Given the description of an element on the screen output the (x, y) to click on. 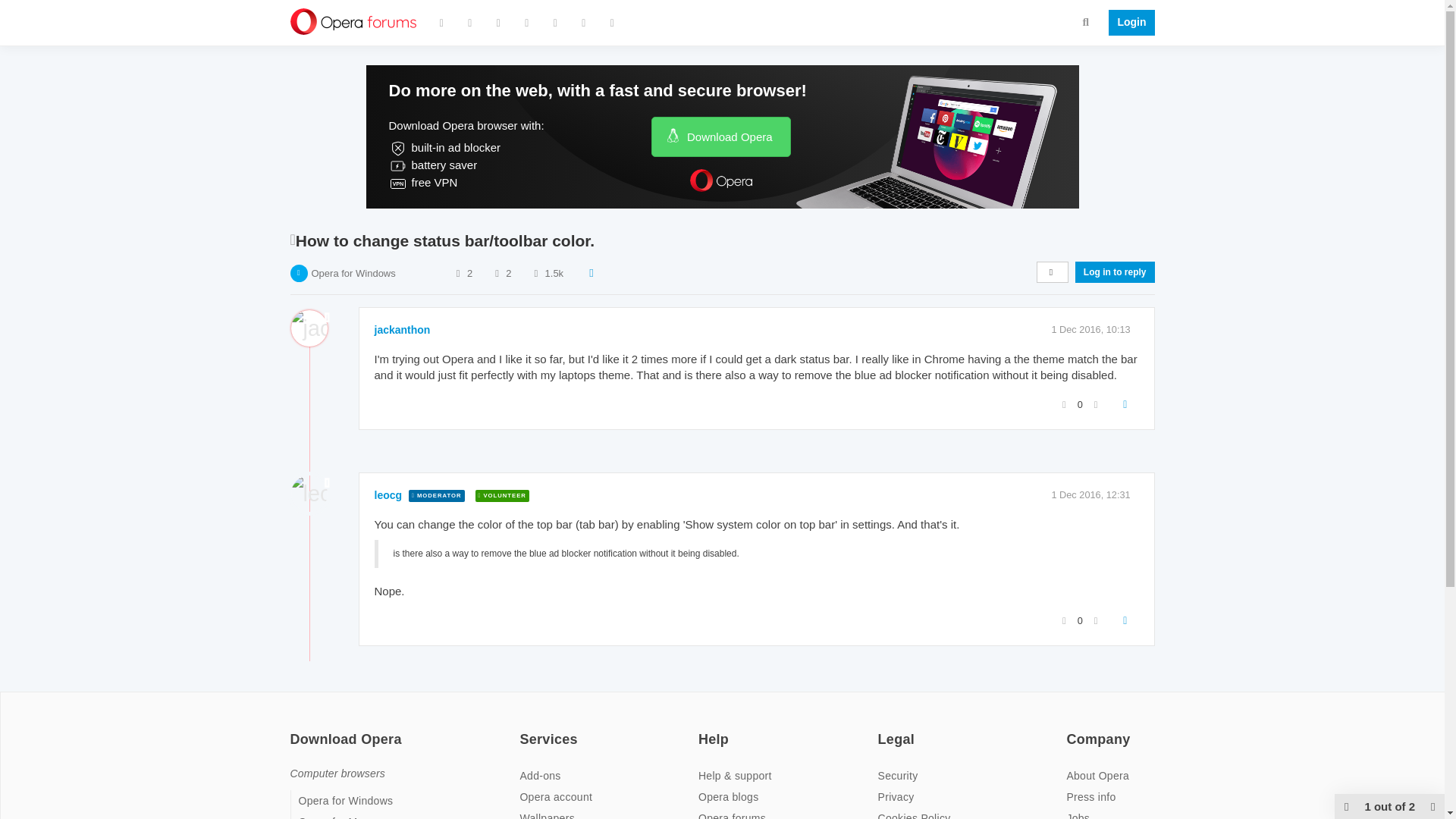
jackanthon (402, 329)
on (293, 728)
on (1070, 728)
Opera for Windows (352, 273)
on (523, 728)
Download Opera (720, 137)
Log in to reply (1114, 271)
on (702, 728)
Login (1127, 22)
Search (1085, 21)
on (881, 728)
1 Dec 2016, 10:13 (1090, 328)
